Given the description of an element on the screen output the (x, y) to click on. 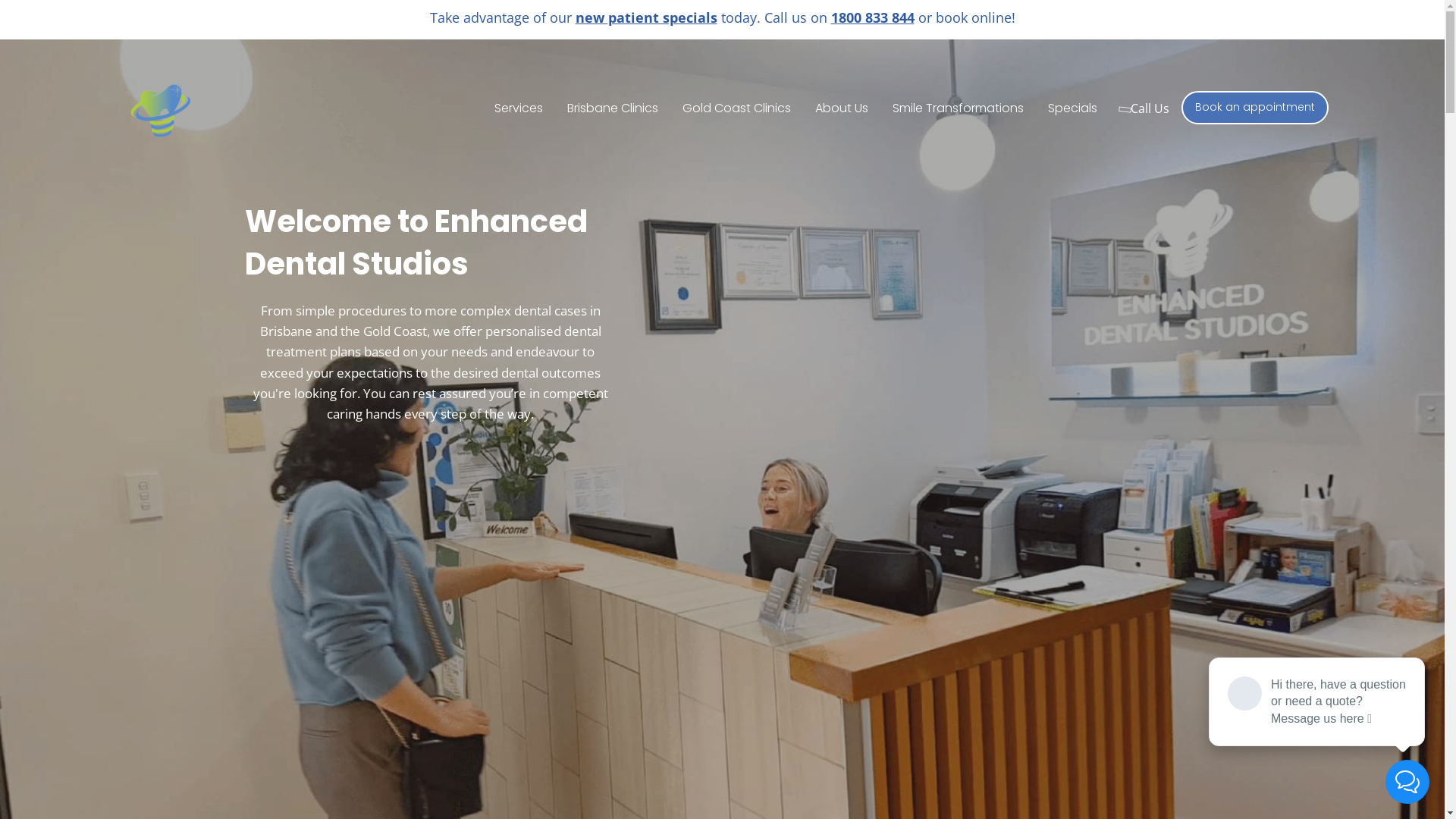
Call us on 1800 833 844 Element type: text (836, 17)
About Us Element type: text (841, 108)
or book online! Element type: text (964, 17)
Smile Transformations Element type: text (957, 108)
Brisbane Element type: text (285, 330)
Specials Element type: text (1072, 108)
Gold Coast Clinics Element type: text (736, 108)
Submit Element type: text (580, 481)
Book an appointment Element type: text (1254, 107)
Brisbane Clinics Element type: text (612, 108)
Take advantage of our new patient specials today. Element type: text (594, 17)
Call Us Element type: text (1145, 108)
Services Element type: text (518, 108)
